Given the description of an element on the screen output the (x, y) to click on. 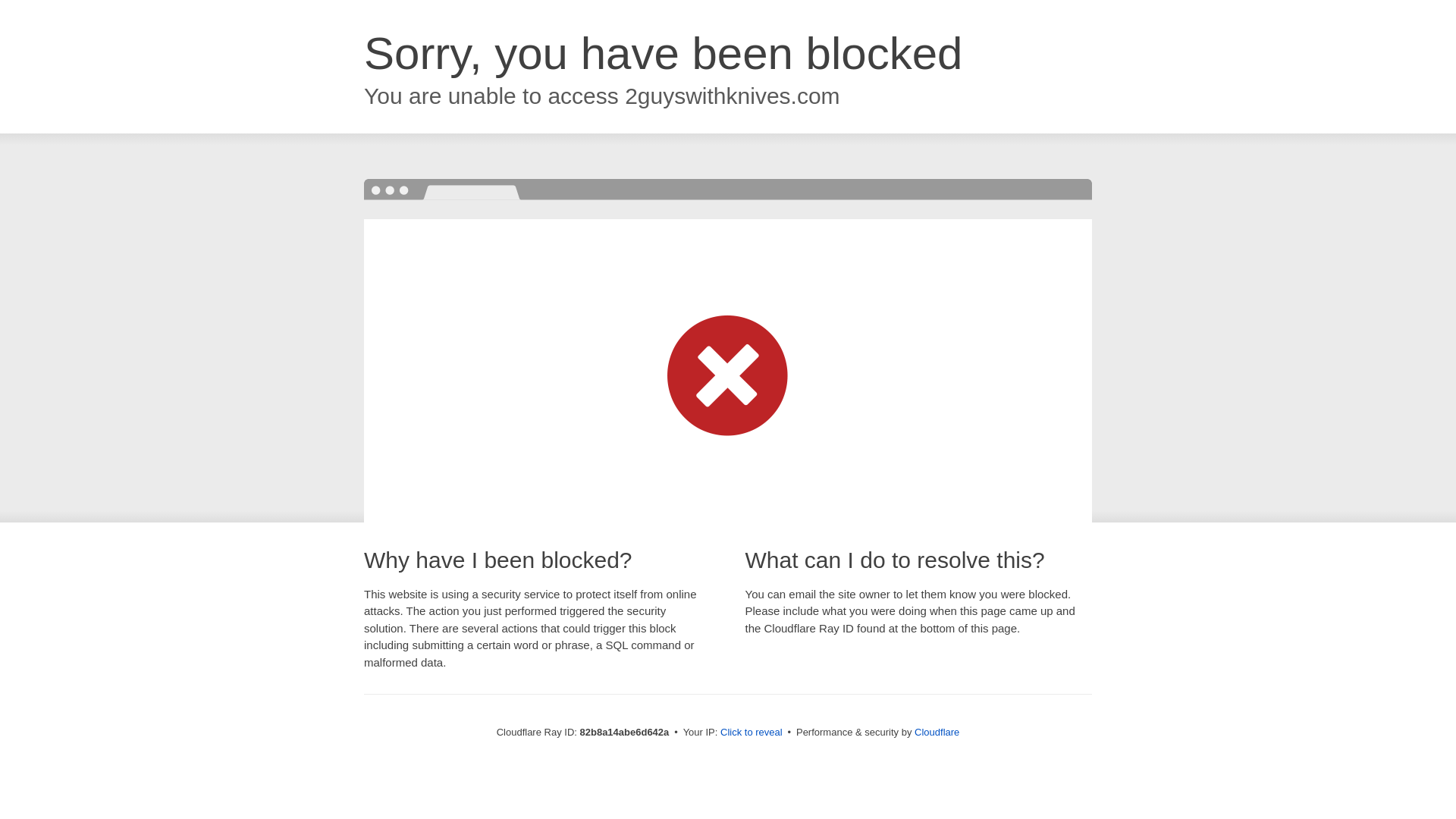
Cloudflare Element type: text (936, 731)
Click to reveal Element type: text (751, 732)
